Given the description of an element on the screen output the (x, y) to click on. 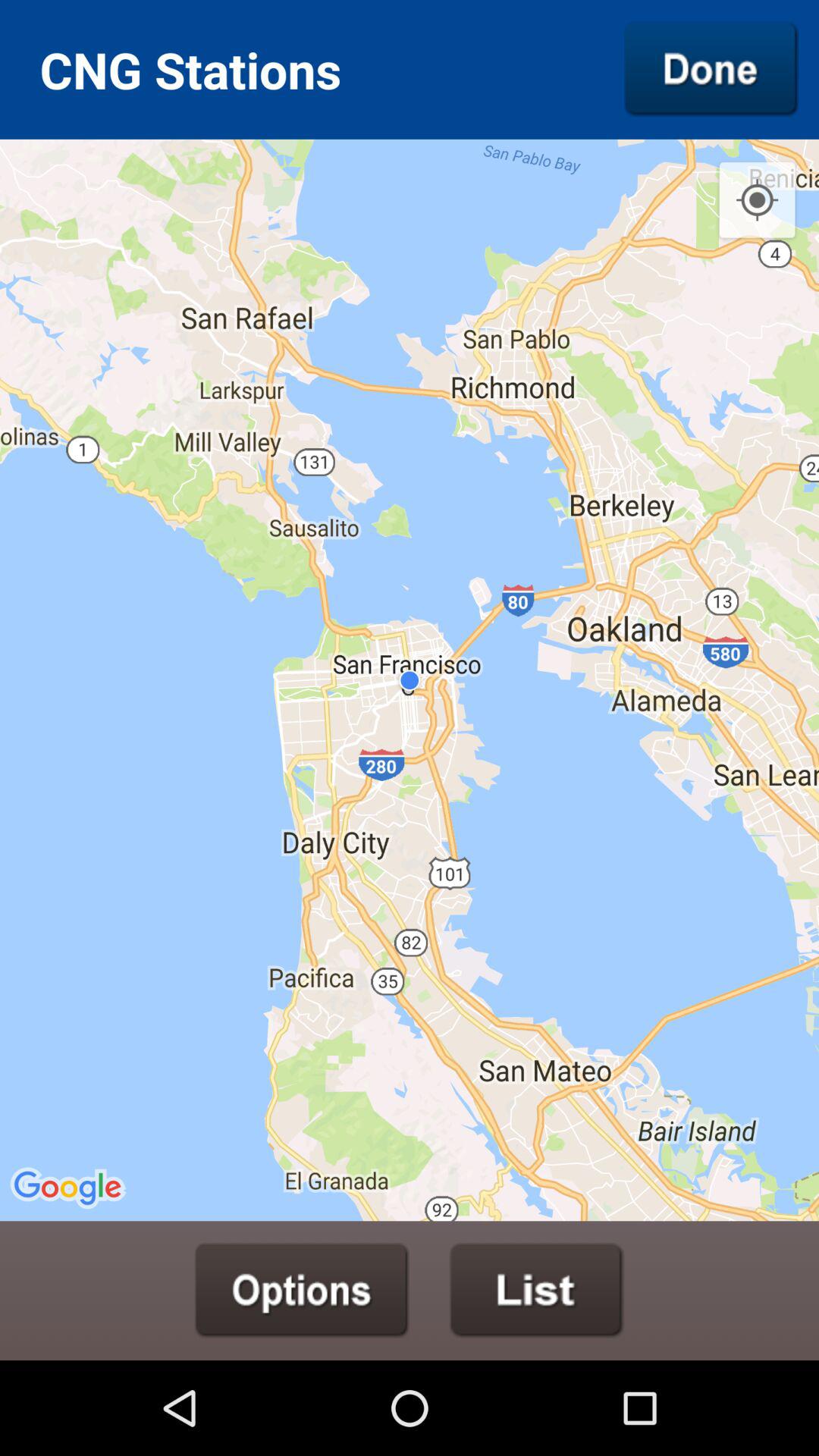
tap icon to the right of the cng stations icon (711, 69)
